Given the description of an element on the screen output the (x, y) to click on. 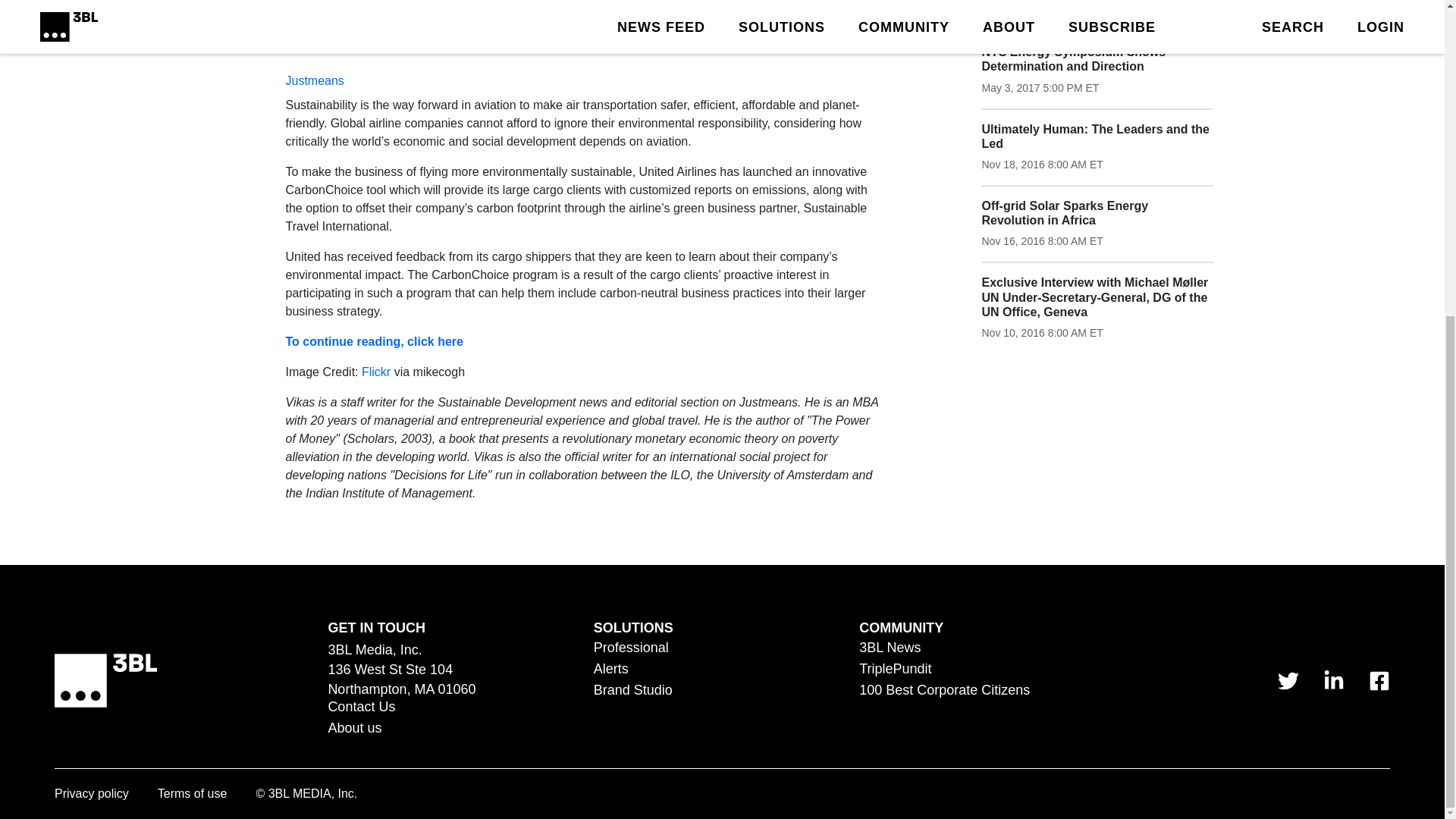
link to 3 B L Media's Twitter (1288, 680)
link to 3 B L Media's Facebook (1379, 680)
link to 3 B L Media's Linkedin (1333, 680)
